Given the description of an element on the screen output the (x, y) to click on. 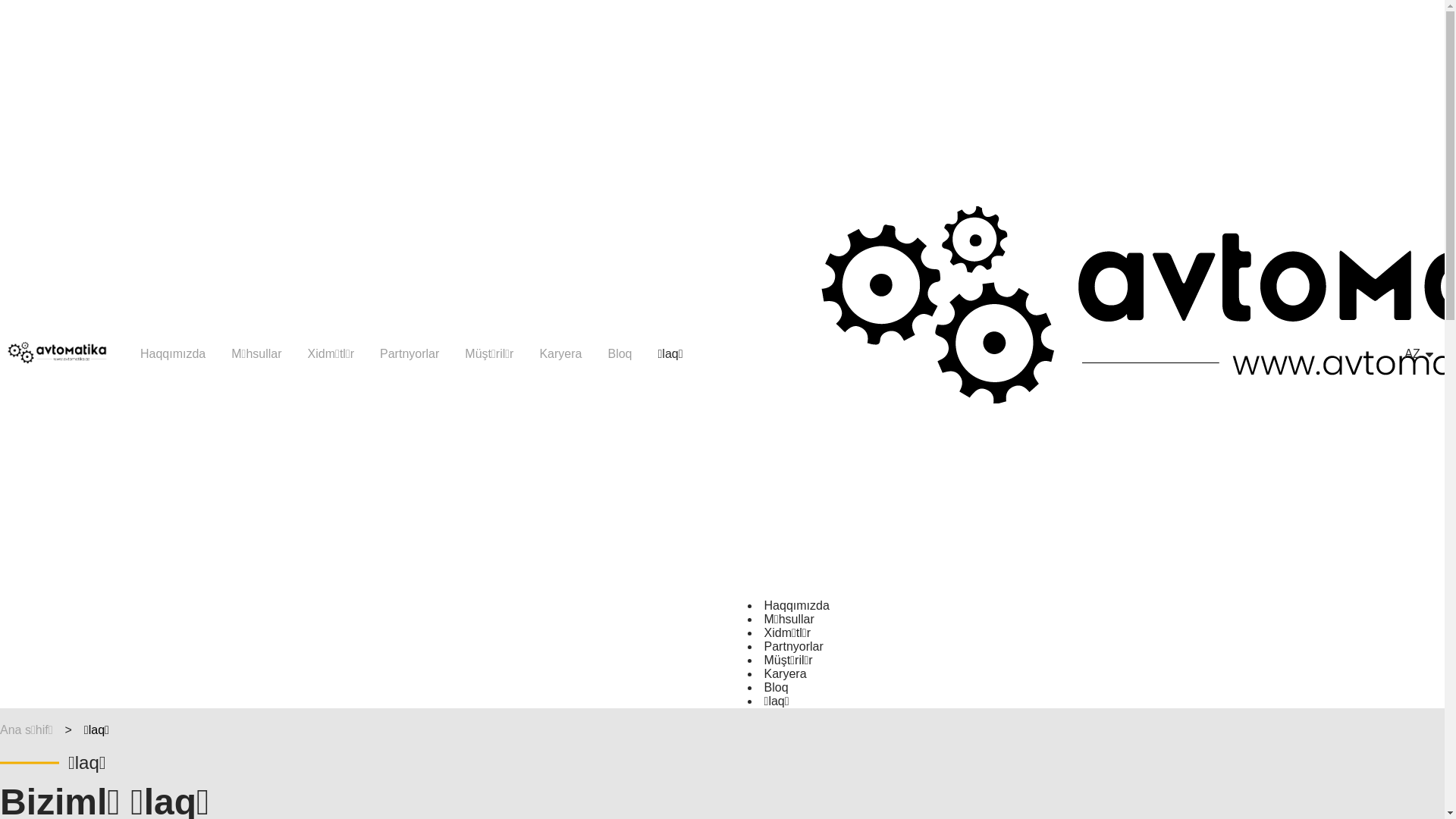
Bloq Element type: text (619, 353)
Partnyorlar Element type: text (793, 646)
Bloq Element type: text (776, 686)
Karyera Element type: text (560, 353)
Partnyorlar Element type: text (409, 353)
Karyera Element type: text (785, 673)
AZ Element type: text (1412, 354)
